Given the description of an element on the screen output the (x, y) to click on. 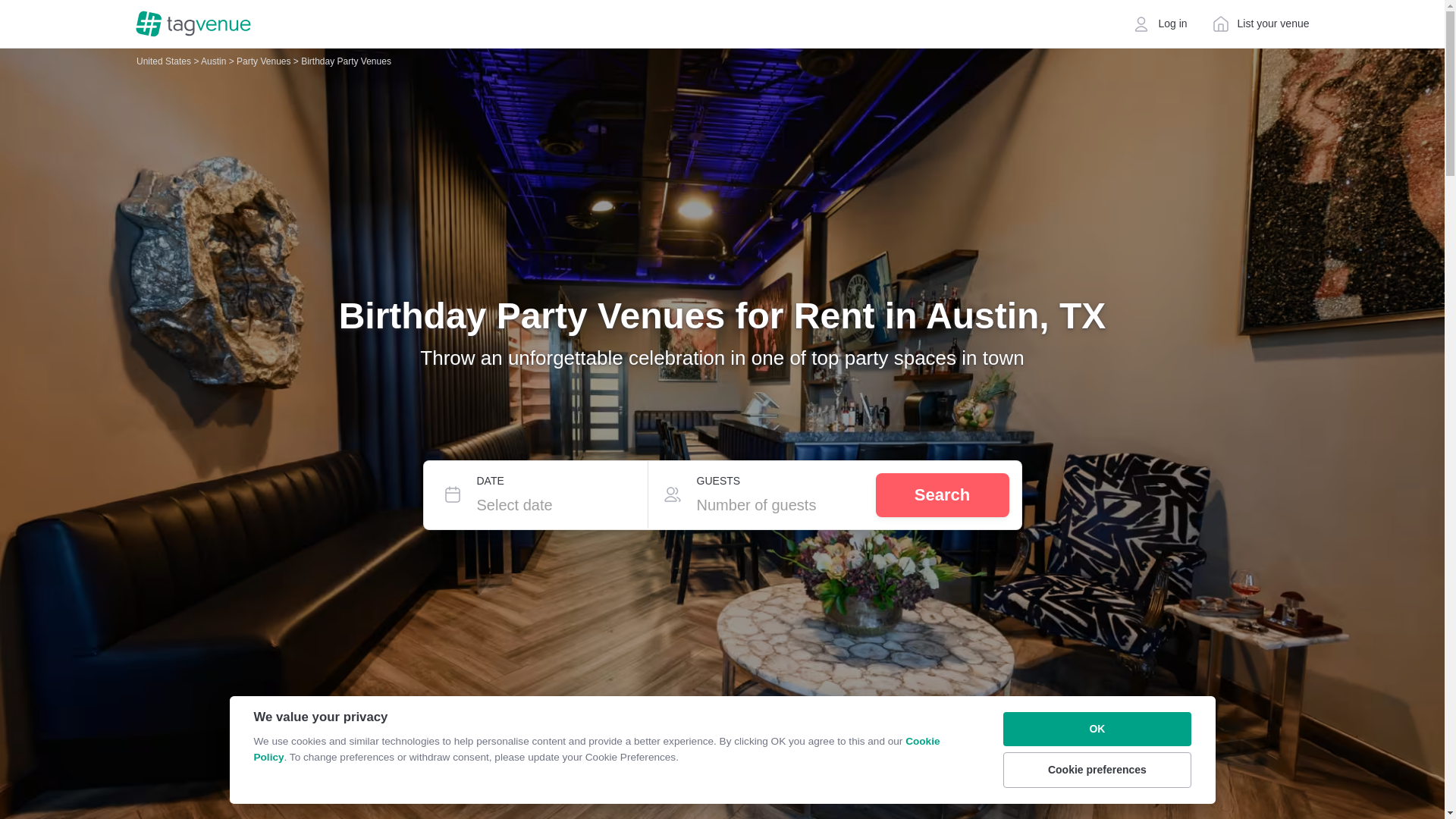
List your venue (1260, 23)
United States (164, 61)
Party Venues (264, 61)
Log in (1158, 23)
Search (942, 494)
Austin (214, 61)
